Given the description of an element on the screen output the (x, y) to click on. 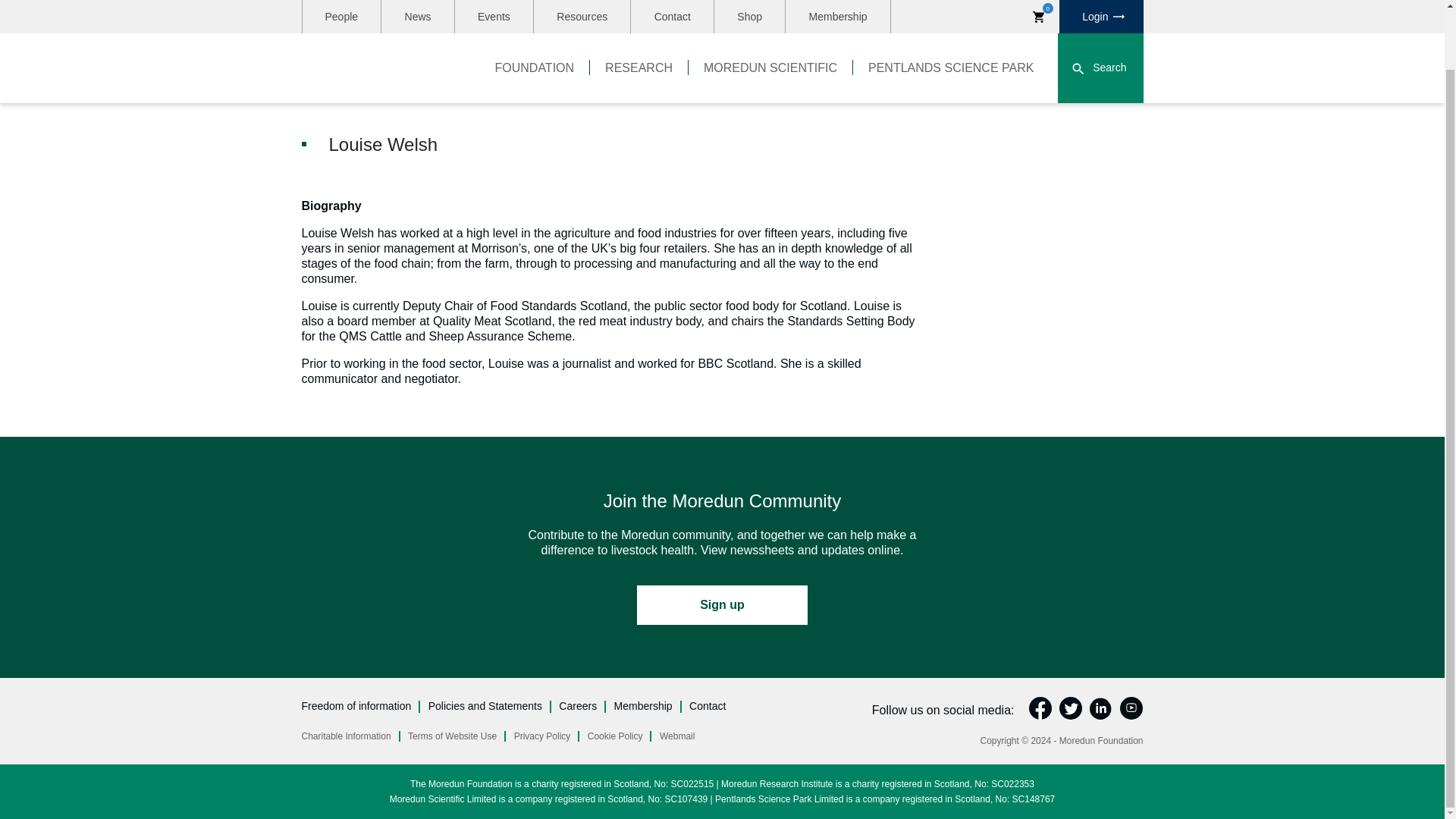
Go back to the home page (379, 7)
MOREDUN SCIENTIFIC (770, 9)
RESEARCH (638, 9)
FOUNDATION (535, 9)
